Given the description of an element on the screen output the (x, y) to click on. 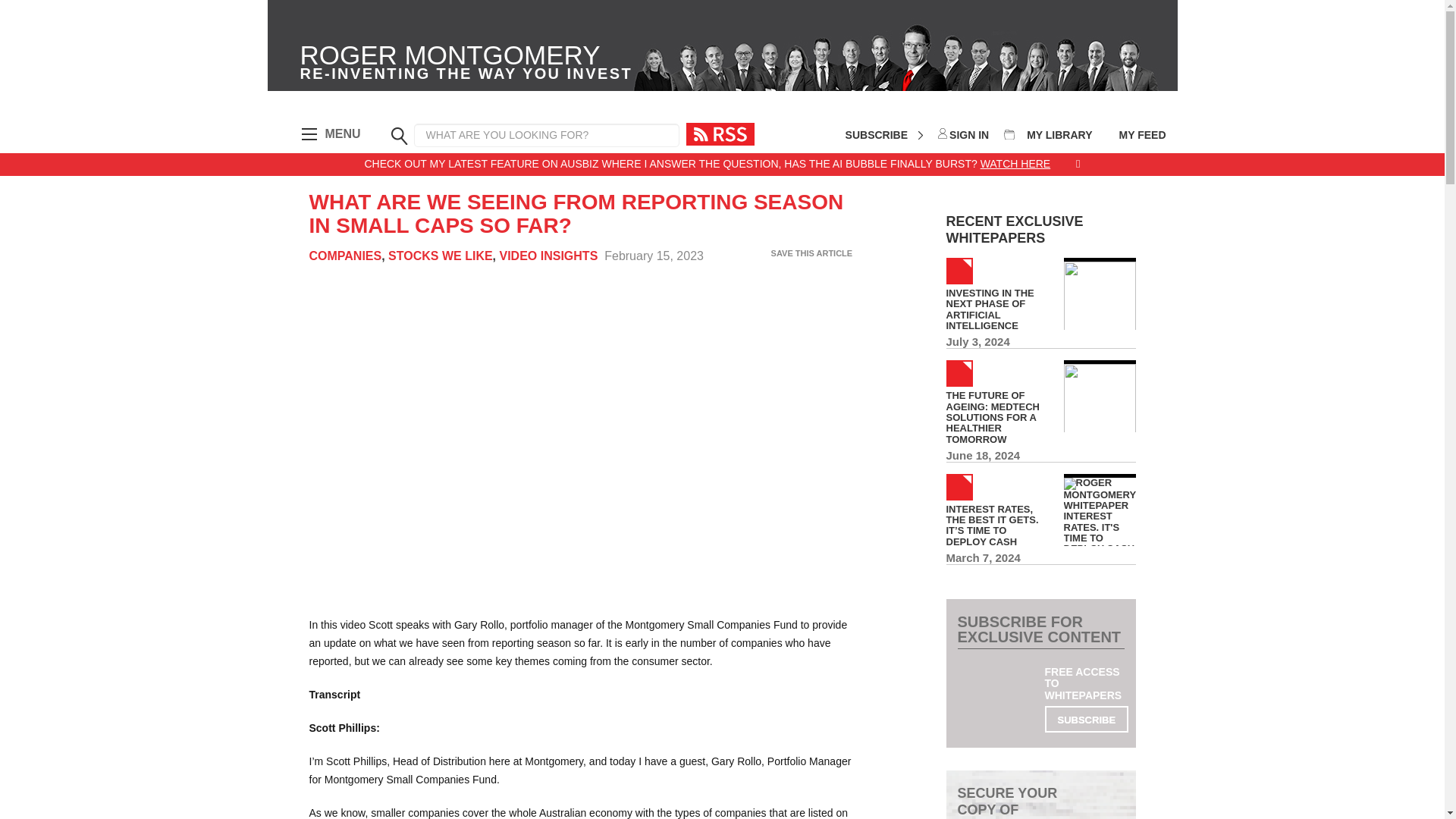
MENU (466, 64)
ROGER MONTGOMERY (327, 134)
2:00 pm (466, 64)
